Given the description of an element on the screen output the (x, y) to click on. 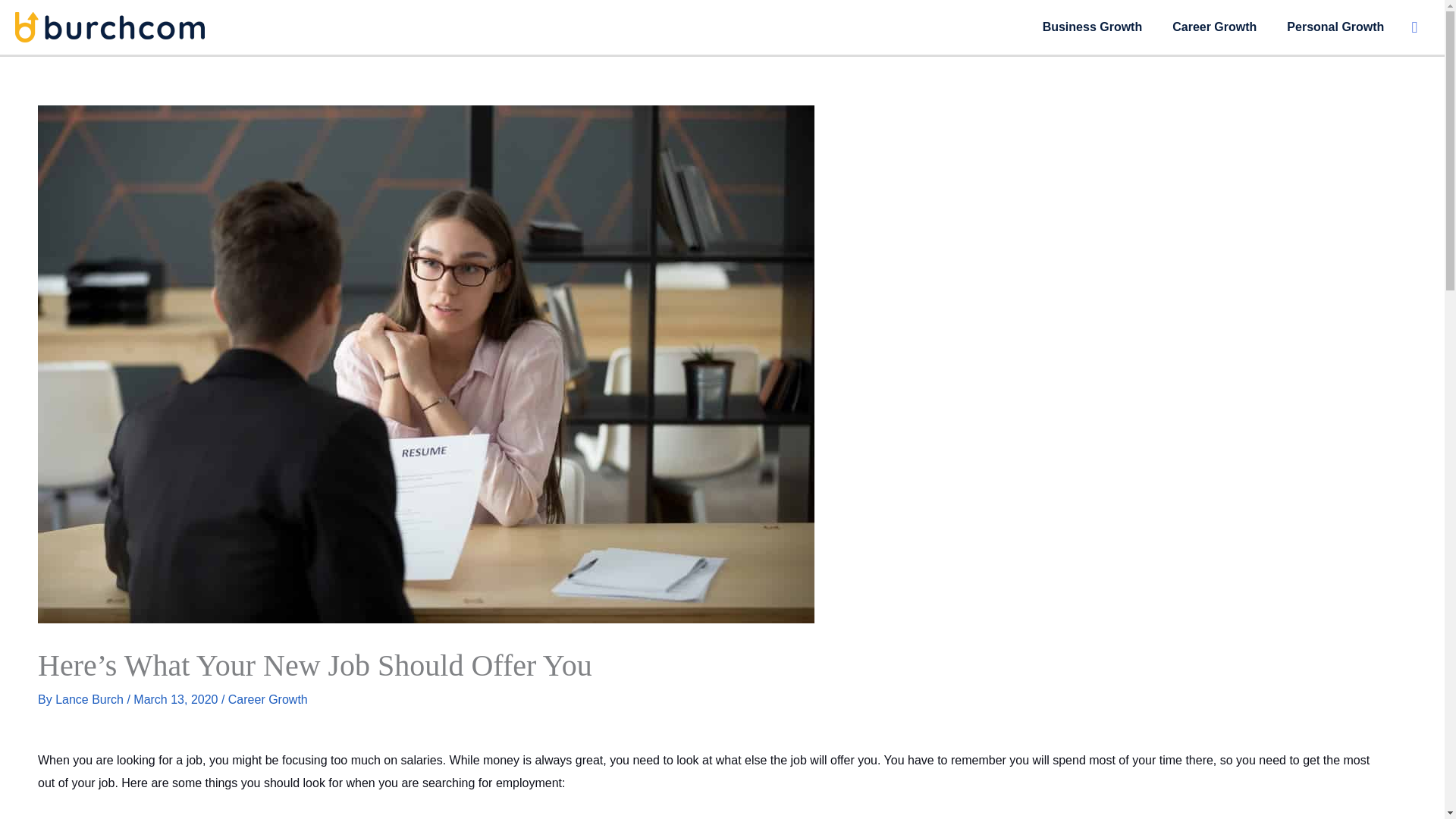
Career Growth (1214, 27)
View all posts by Lance Burch (90, 698)
Business Growth (1092, 27)
Career Growth (267, 698)
Personal Growth (1335, 27)
Lance Burch (90, 698)
Search (1413, 27)
